Given the description of an element on the screen output the (x, y) to click on. 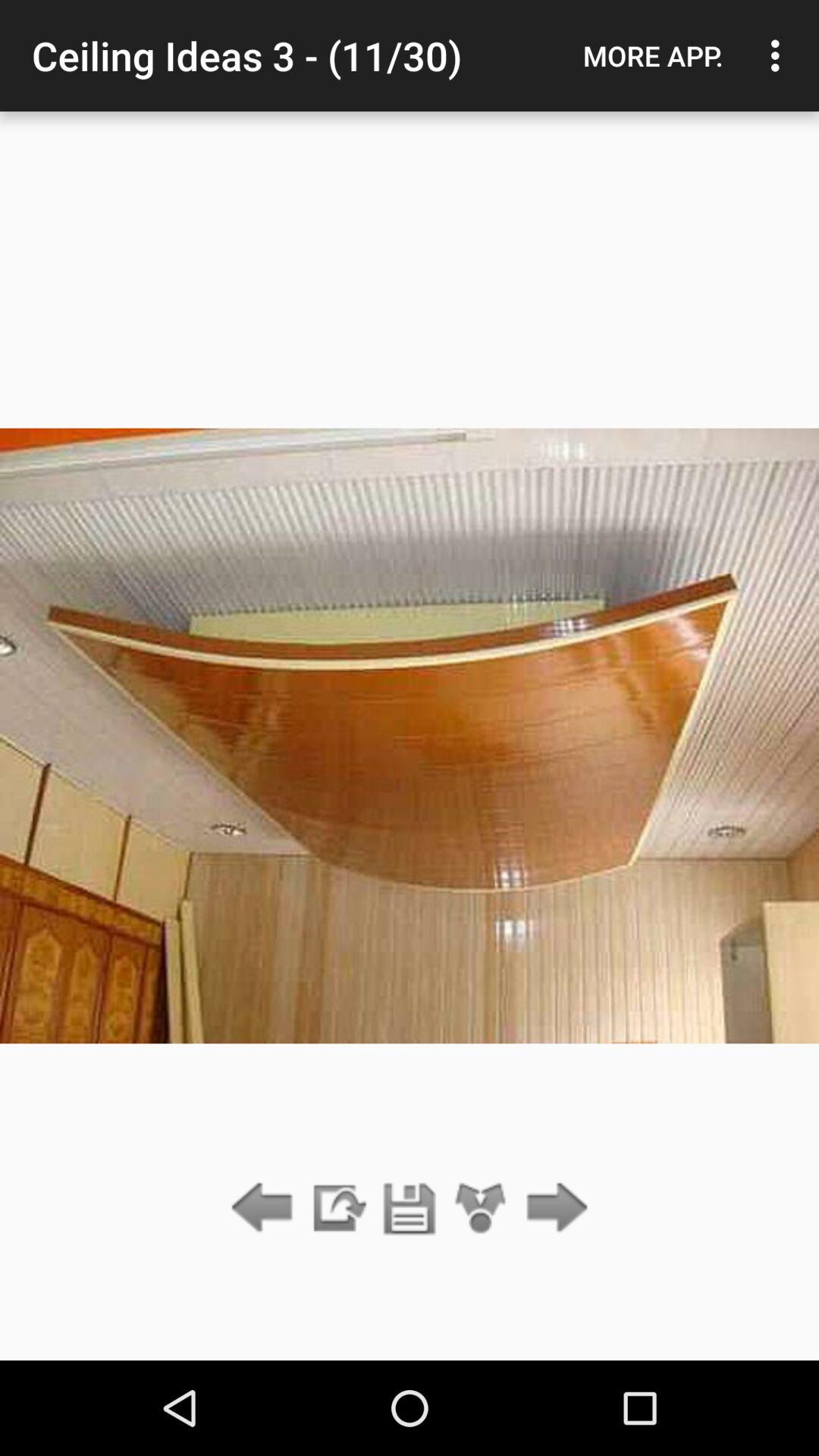
swipe until more app. item (653, 55)
